Given the description of an element on the screen output the (x, y) to click on. 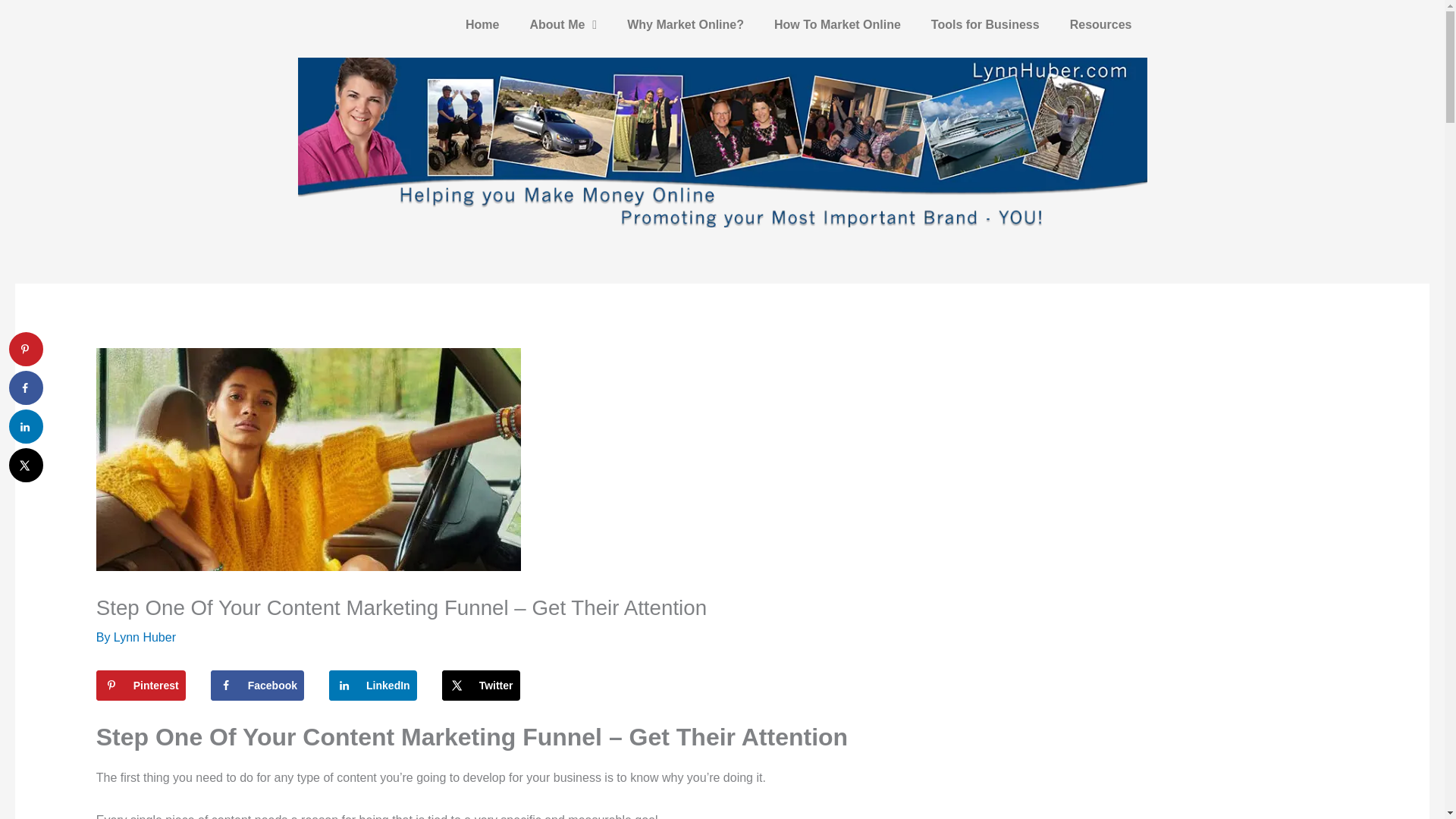
How To Market Online (836, 24)
Home (481, 24)
Share on X (480, 685)
Twitter (480, 685)
LinkedIn (372, 685)
Tools for Business (984, 24)
Share on Facebook (257, 685)
Why Market Online? (684, 24)
Save to Pinterest (141, 685)
Share on LinkedIn (372, 685)
View all posts by Lynn Huber (144, 636)
Lynn Huber (144, 636)
Resources (1100, 24)
Facebook (257, 685)
About Me (562, 24)
